Given the description of an element on the screen output the (x, y) to click on. 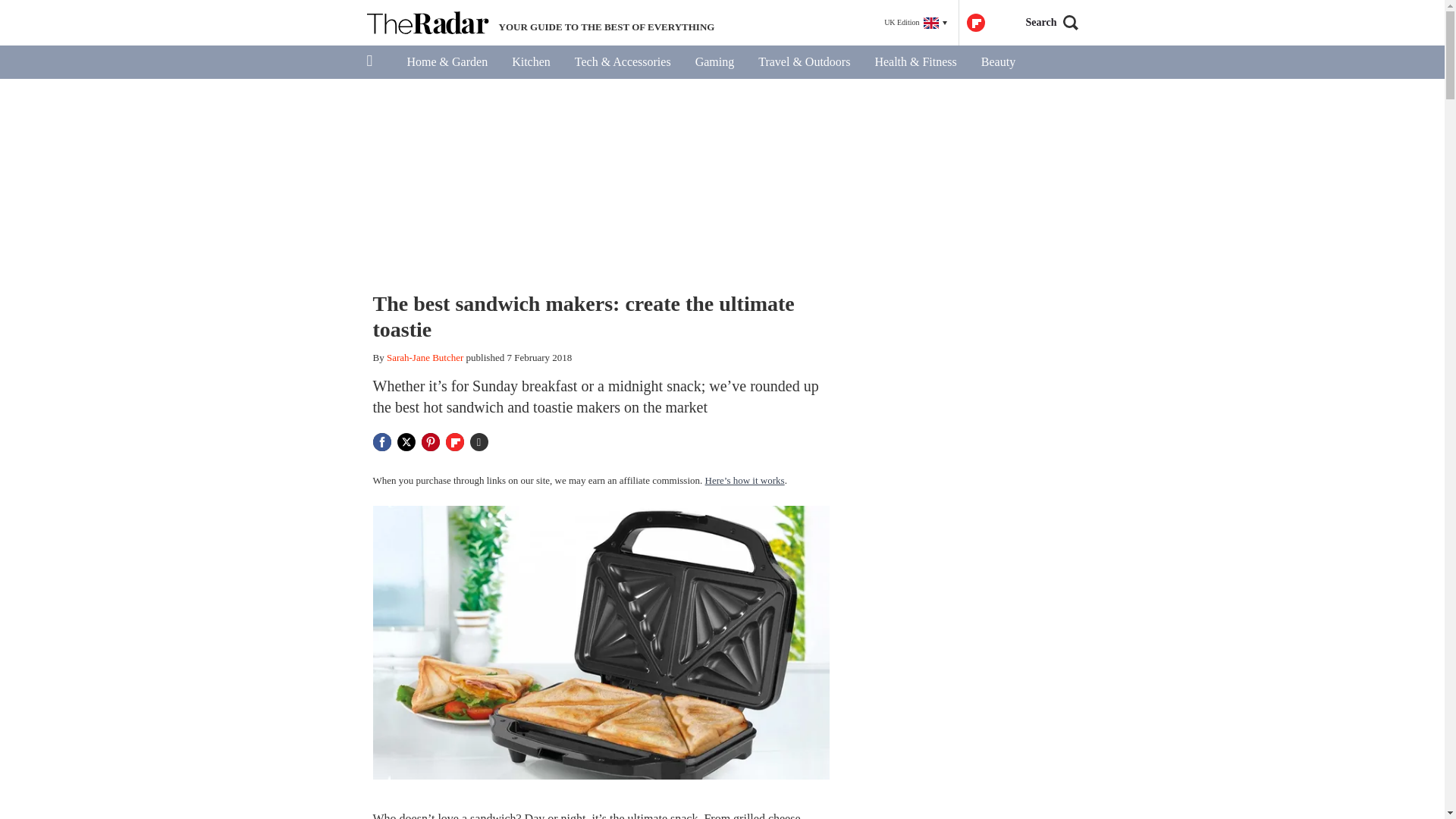
Kitchen (530, 61)
Sarah-Jane Butcher (425, 357)
UK Edition (914, 22)
Gaming (714, 61)
Beauty (998, 61)
YOUR GUIDE TO THE BEST OF EVERYTHING (540, 22)
